Given the description of an element on the screen output the (x, y) to click on. 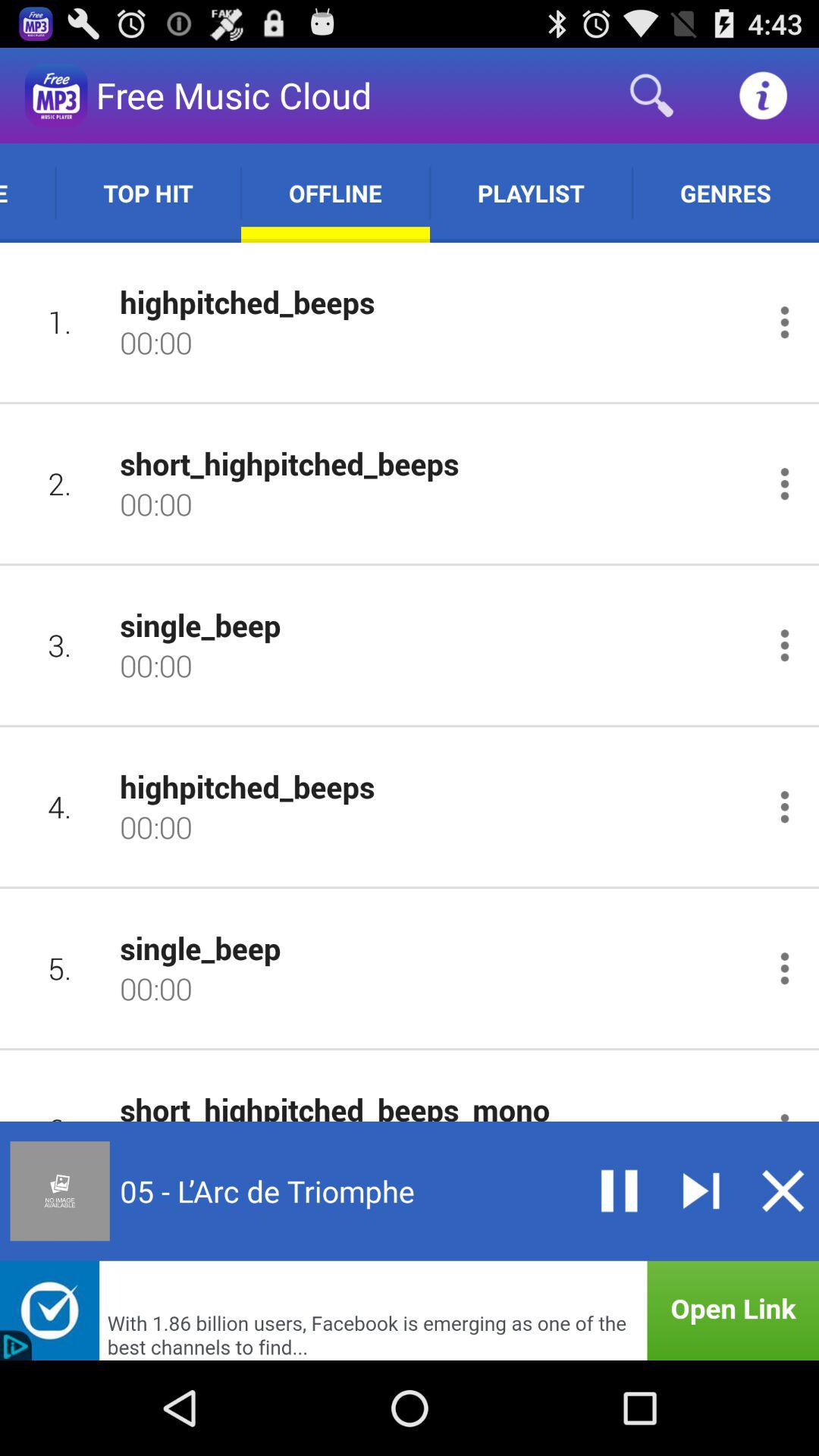
select 5. icon (59, 968)
